Given the description of an element on the screen output the (x, y) to click on. 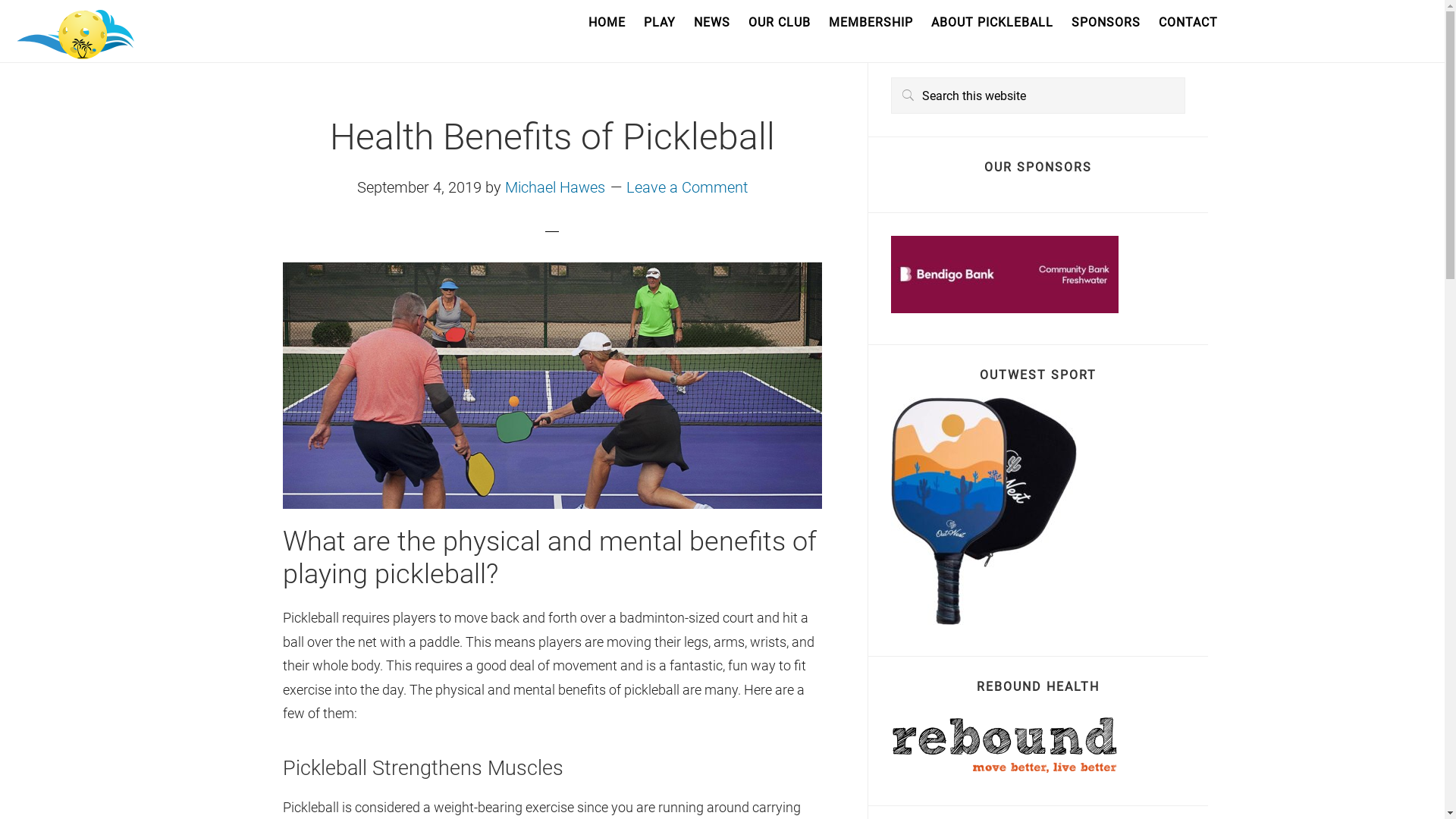
ABOUT PICKLEBALL Element type: text (991, 22)
SPONSORS Element type: text (1105, 22)
PLAY Element type: text (659, 22)
MEMBERSHIP Element type: text (870, 22)
Leave a Comment Element type: text (686, 187)
OUR CLUB Element type: text (779, 22)
NEWS Element type: text (711, 22)
CONTACT Element type: text (1188, 22)
NORTHERN BEACHES PICKLEBALL CLUB Element type: text (75, 34)
Search Element type: text (1184, 76)
Skip to main content Element type: text (0, 0)
HOME Element type: text (606, 22)
Michael Hawes Element type: text (555, 187)
